Given the description of an element on the screen output the (x, y) to click on. 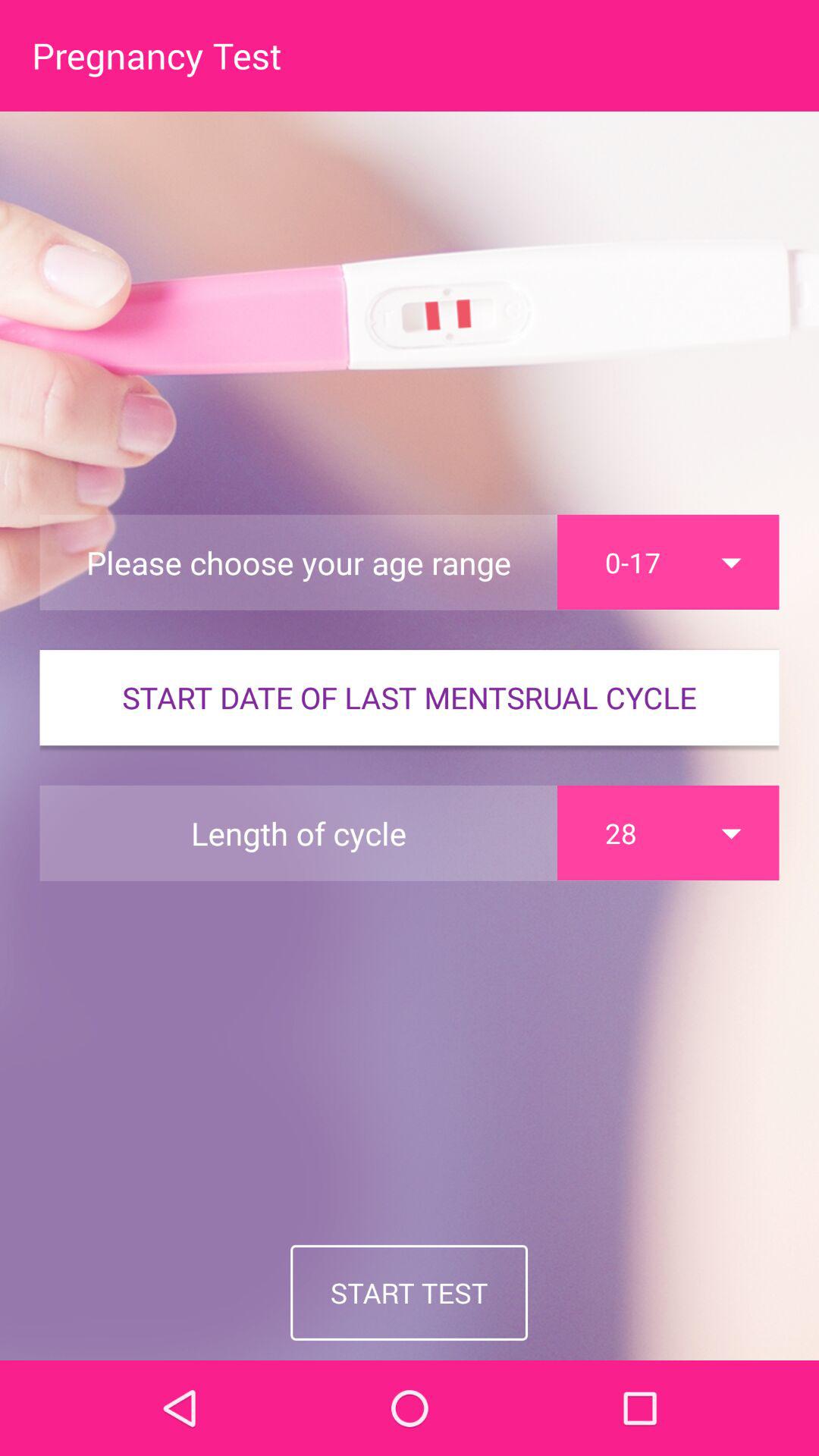
open start date of (409, 697)
